Given the description of an element on the screen output the (x, y) to click on. 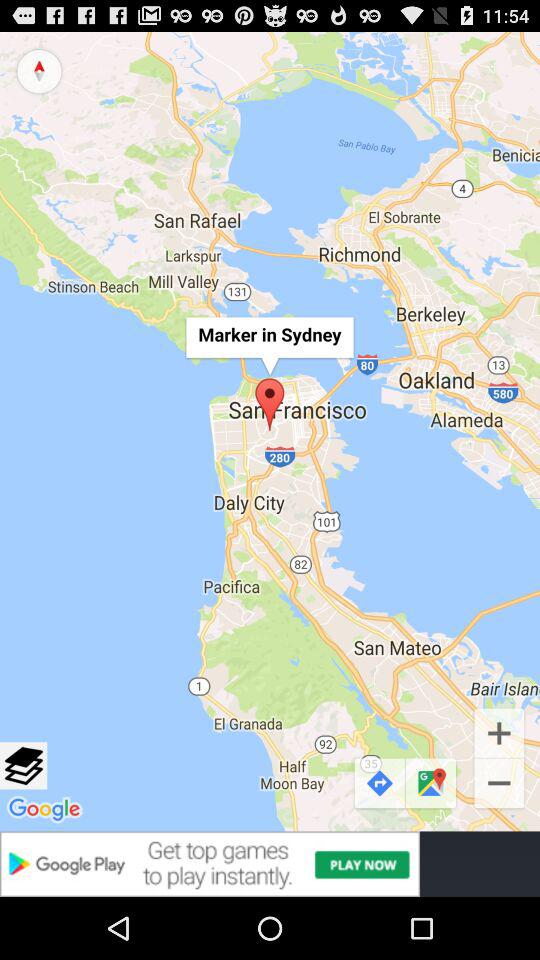
go to google play store (270, 864)
